Given the description of an element on the screen output the (x, y) to click on. 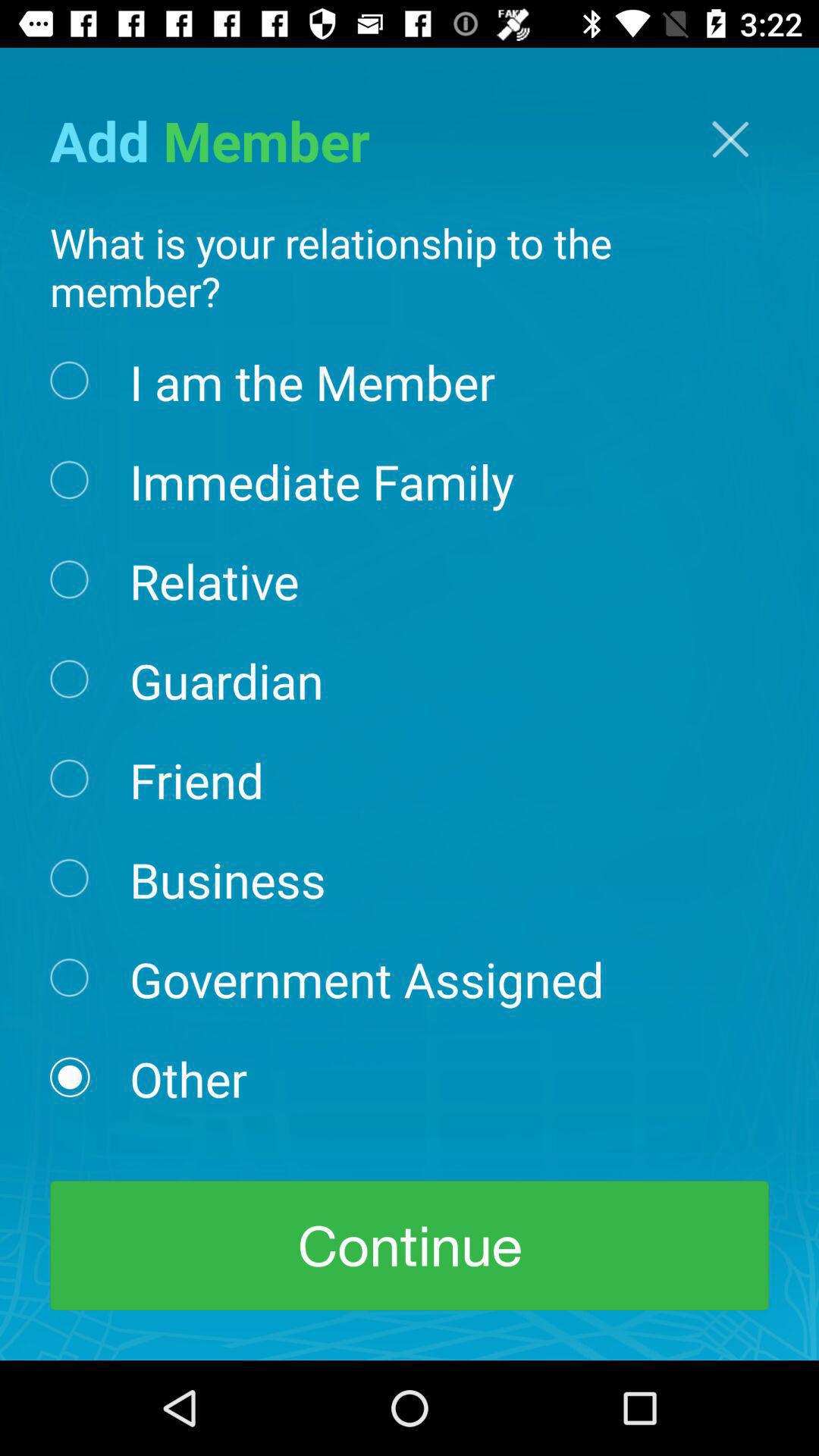
press the icon at the top right corner (730, 139)
